Given the description of an element on the screen output the (x, y) to click on. 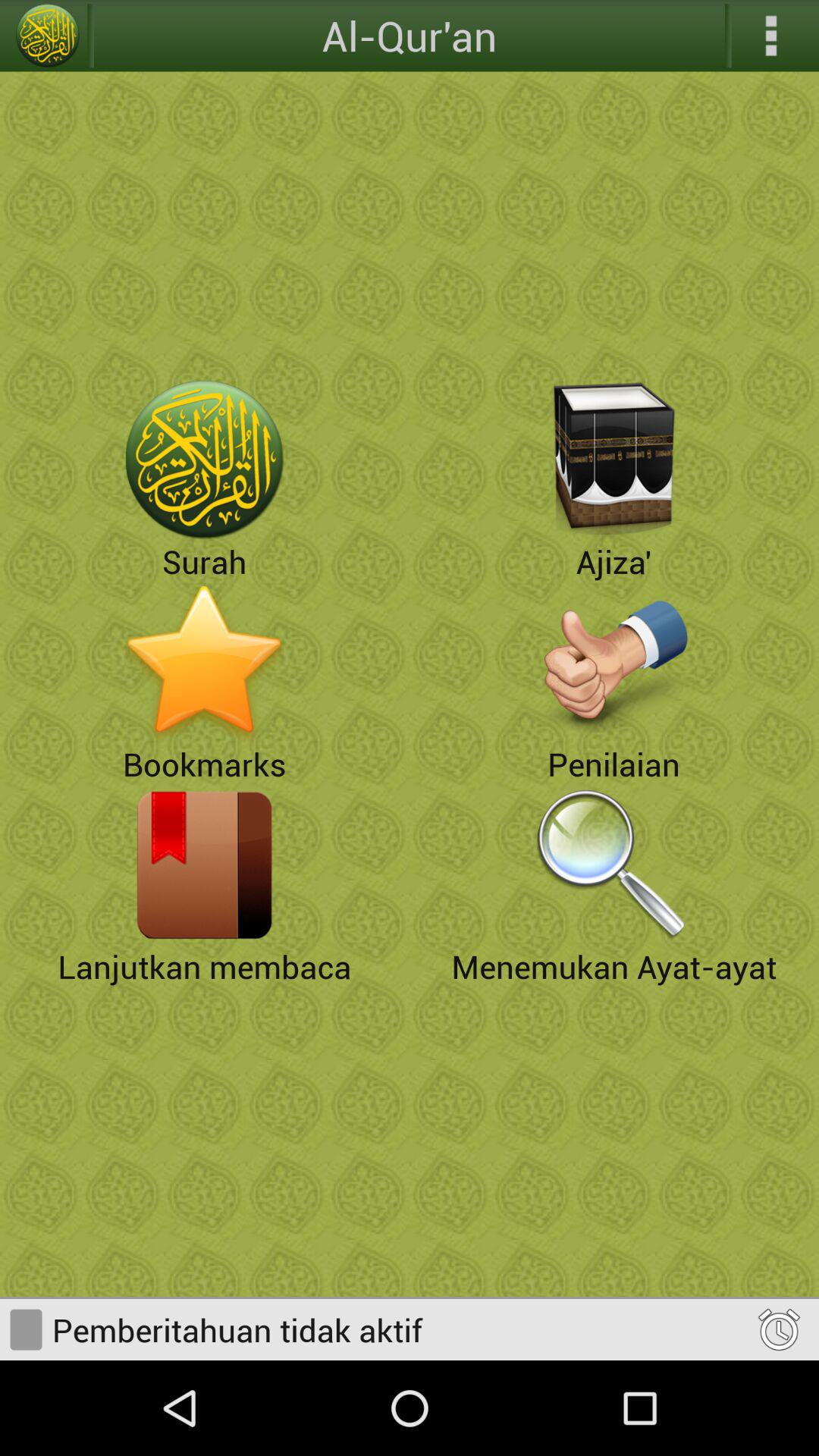
continue reading (204, 864)
